Given the description of an element on the screen output the (x, y) to click on. 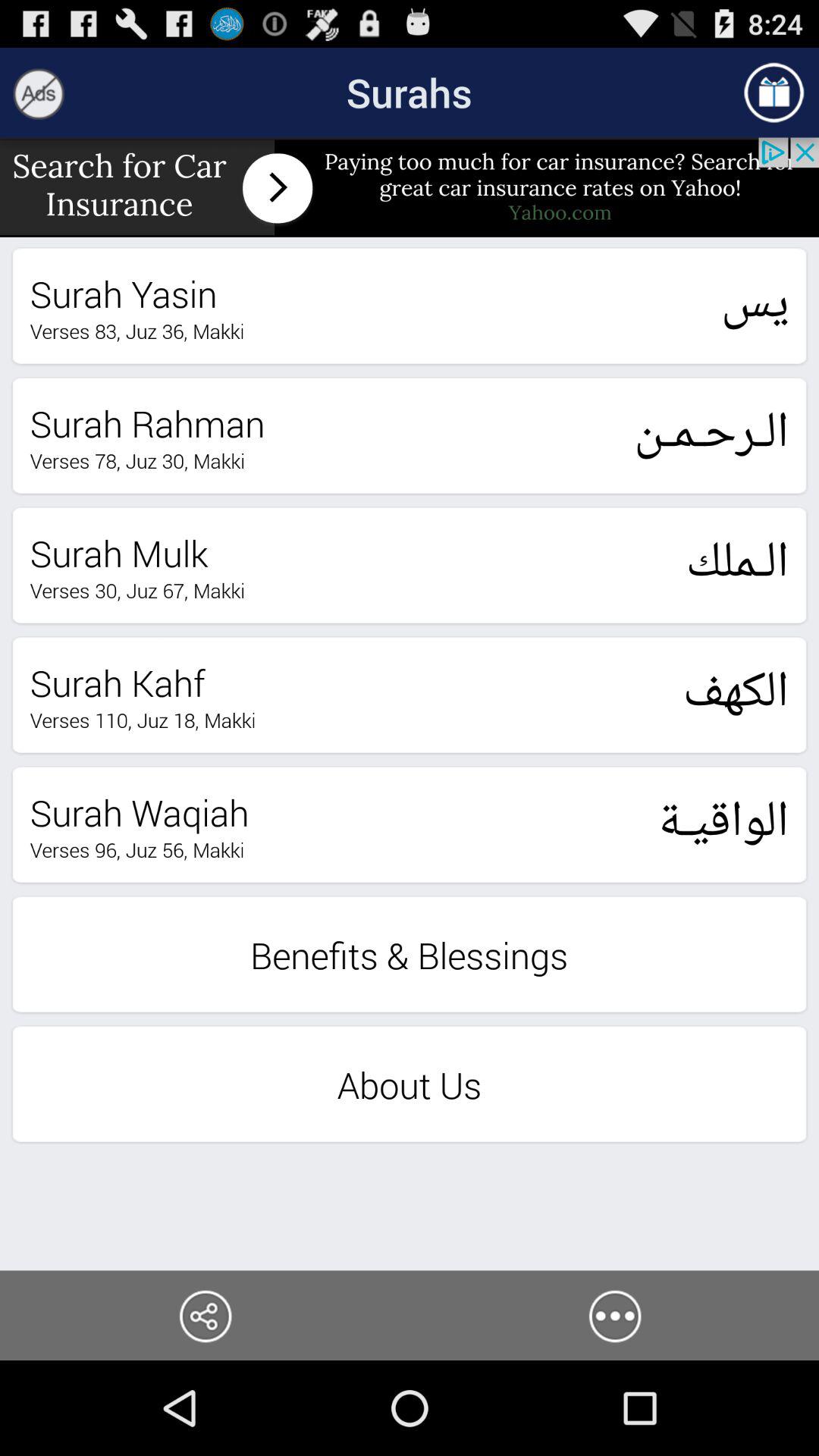
gifte (774, 92)
